Given the description of an element on the screen output the (x, y) to click on. 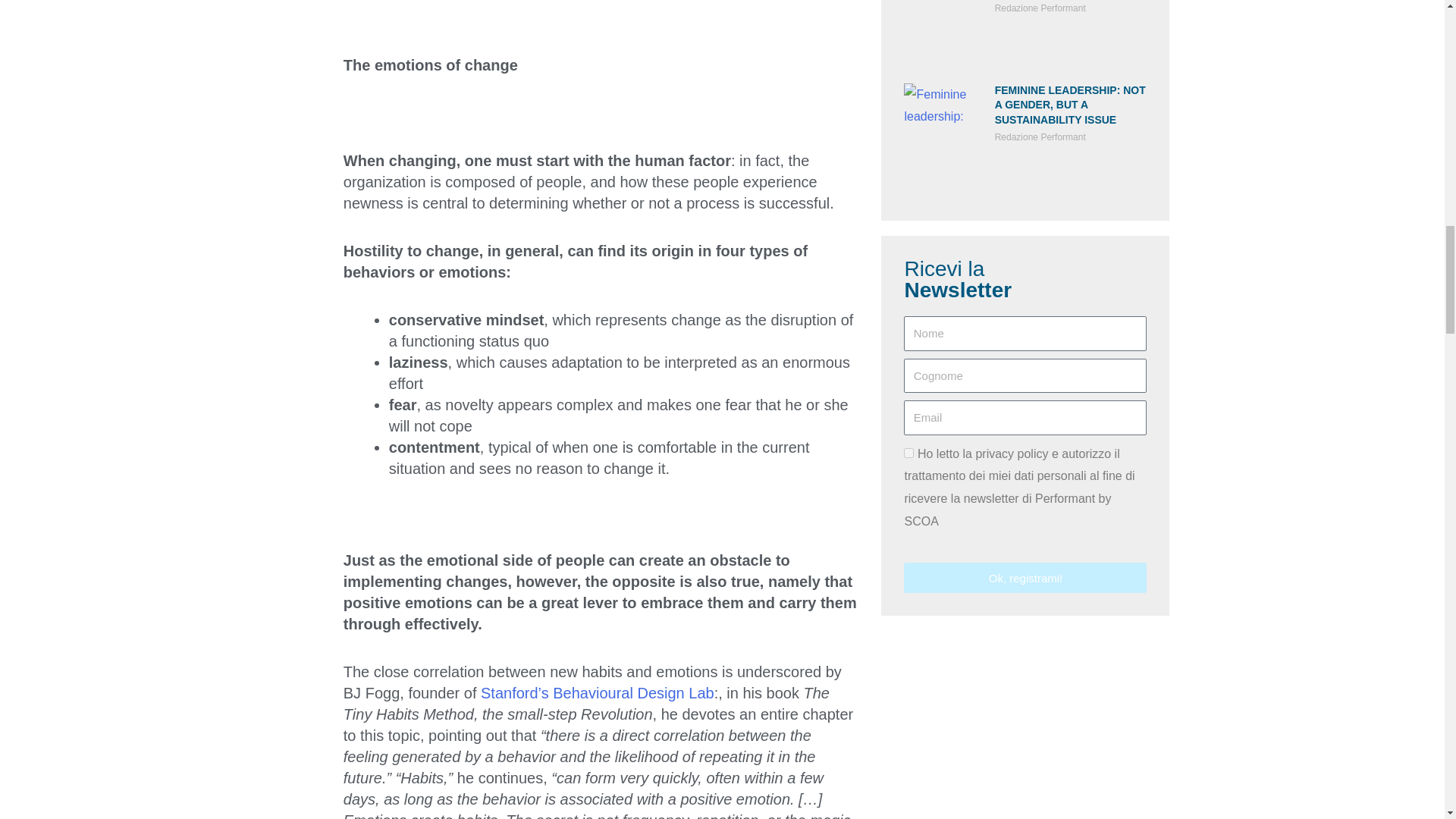
on (909, 452)
